Given the description of an element on the screen output the (x, y) to click on. 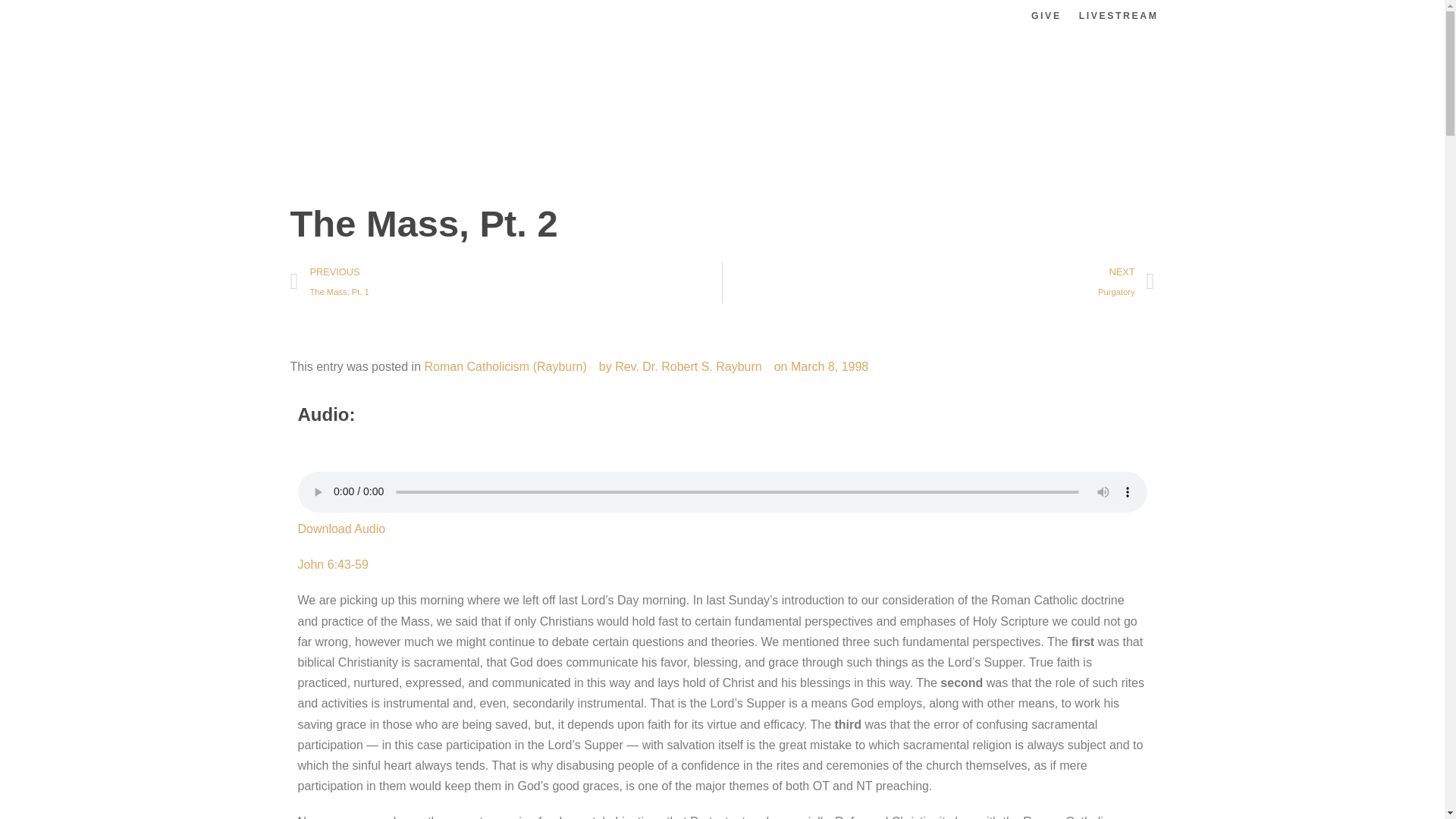
LIVESTREAM (1118, 15)
GIVE (1045, 15)
